Given the description of an element on the screen output the (x, y) to click on. 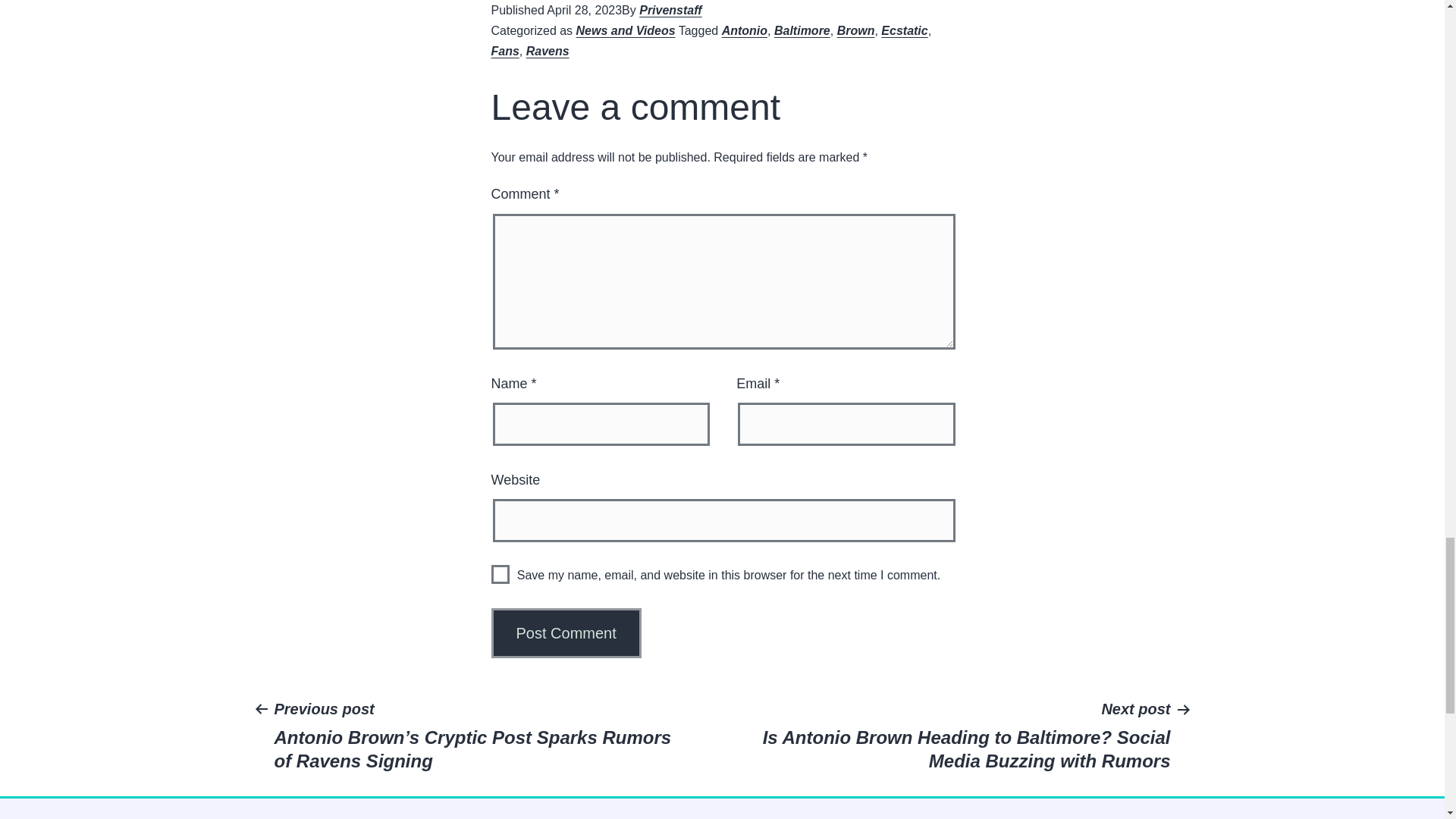
Privenstaff (670, 10)
Post Comment (567, 633)
Brown (856, 30)
Ravens (547, 51)
News and Videos (625, 30)
Baltimore (801, 30)
Ecstatic (903, 30)
Post Comment (567, 633)
Antonio (744, 30)
Fans (505, 51)
